Given the description of an element on the screen output the (x, y) to click on. 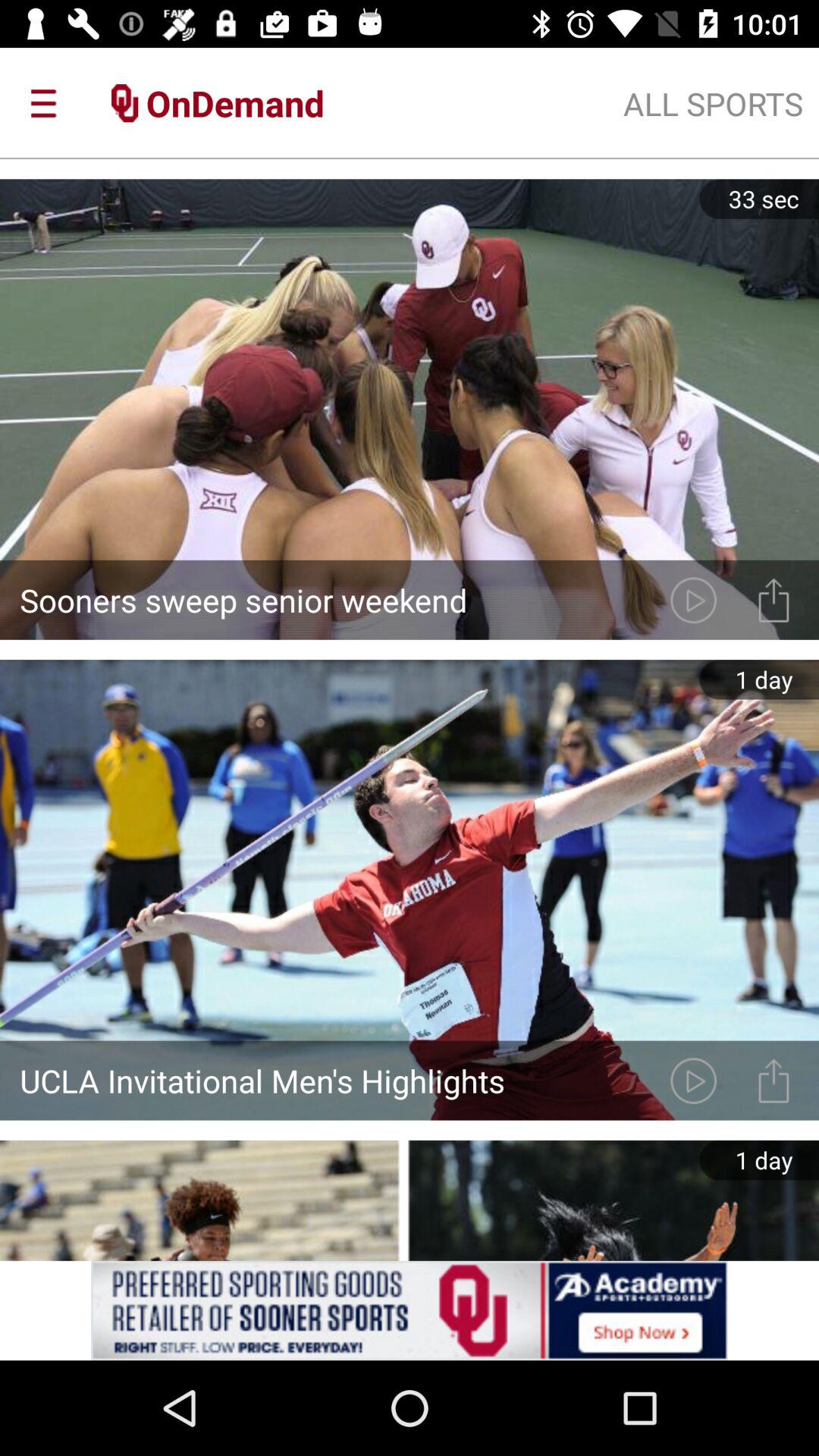
go to next (693, 1080)
